Given the description of an element on the screen output the (x, y) to click on. 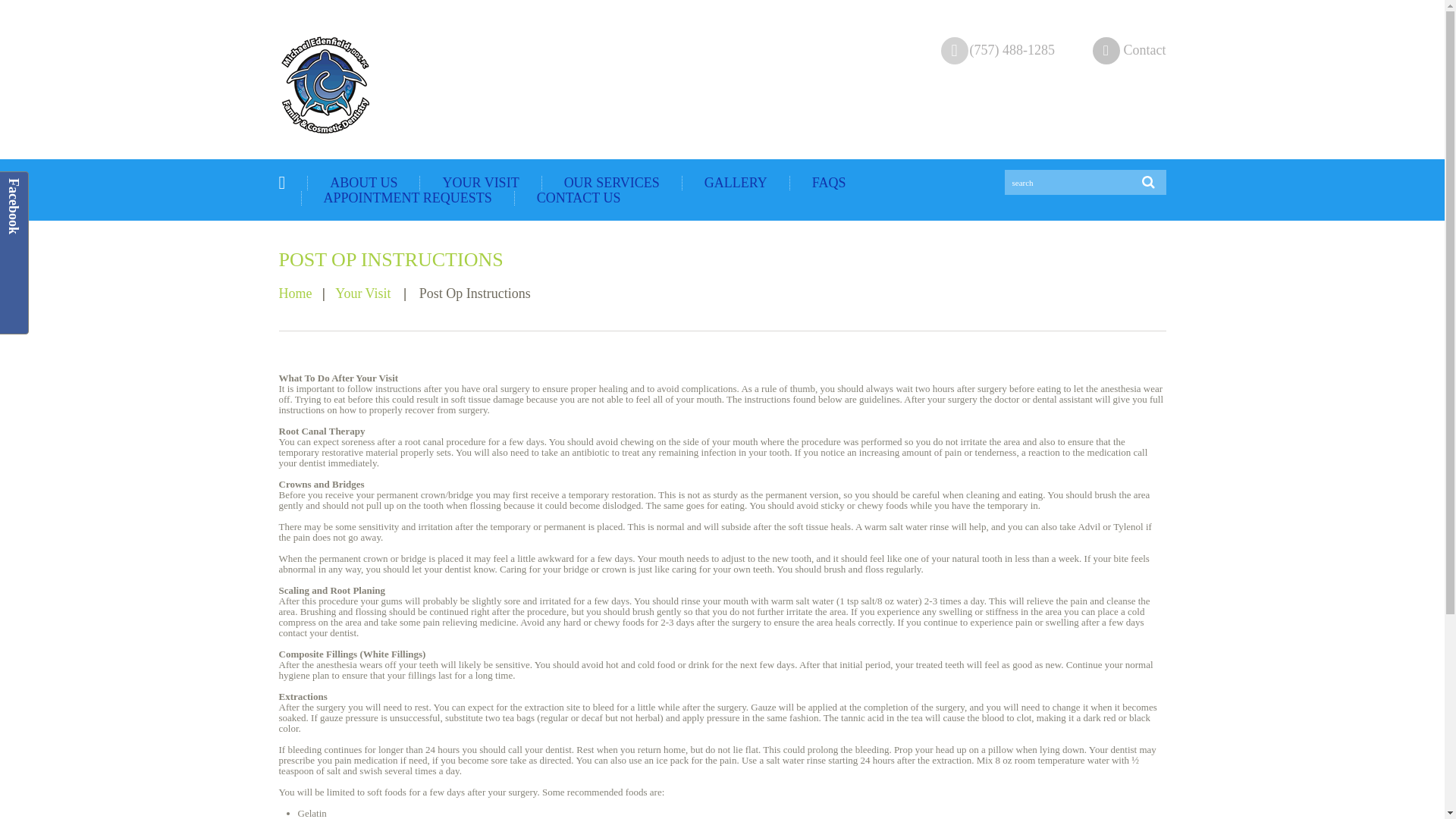
APPOINTMENT REQUESTS (407, 197)
YOUR VISIT (480, 182)
OUR SERVICES (611, 182)
GALLERY (735, 182)
FAQS (828, 182)
CONTACT US (579, 197)
Contact (1145, 49)
Go (1153, 181)
ABOUT US (363, 182)
Your Visit (362, 293)
Home (296, 293)
